Given the description of an element on the screen output the (x, y) to click on. 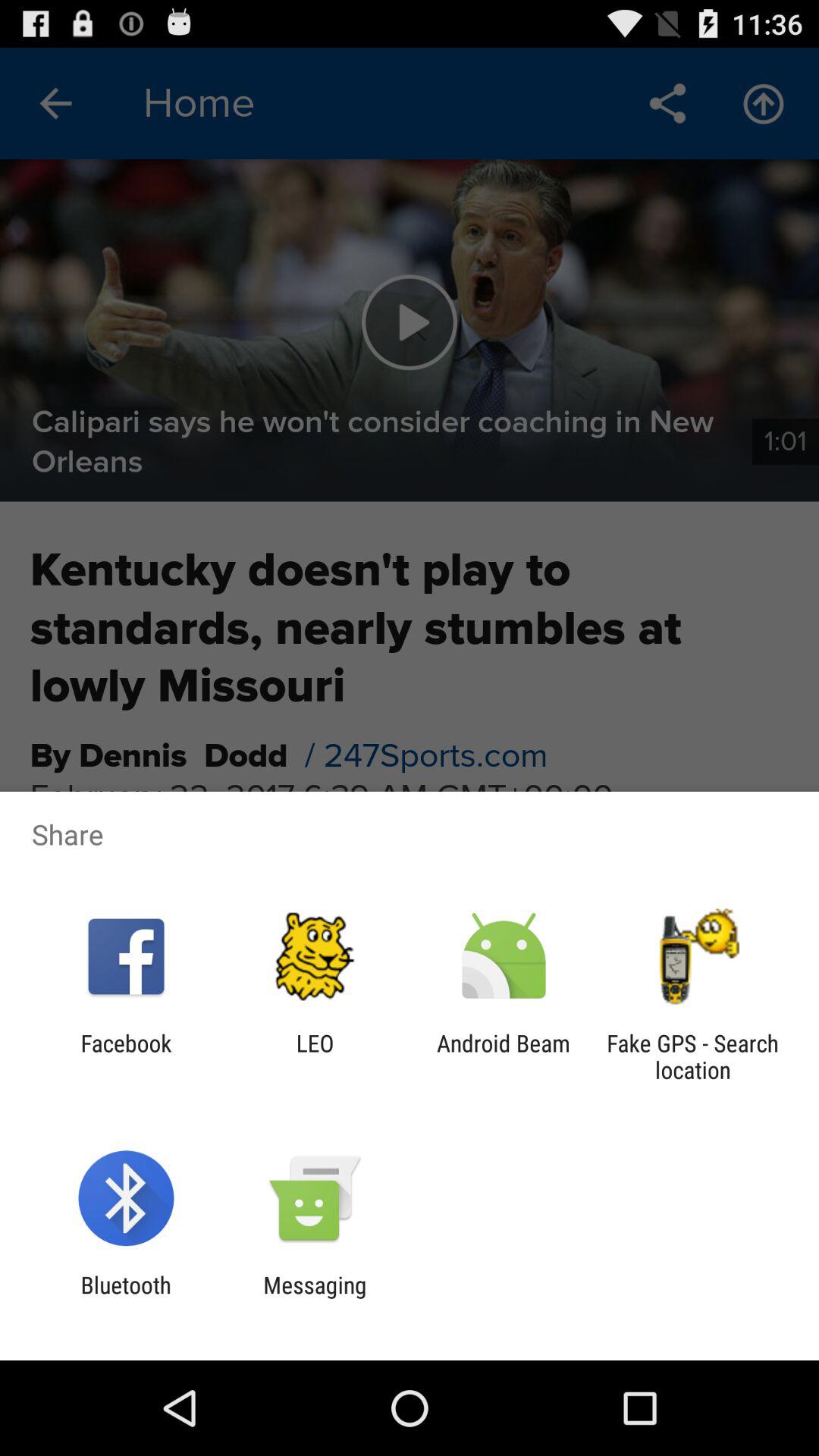
tap the item next to leo app (125, 1056)
